Given the description of an element on the screen output the (x, y) to click on. 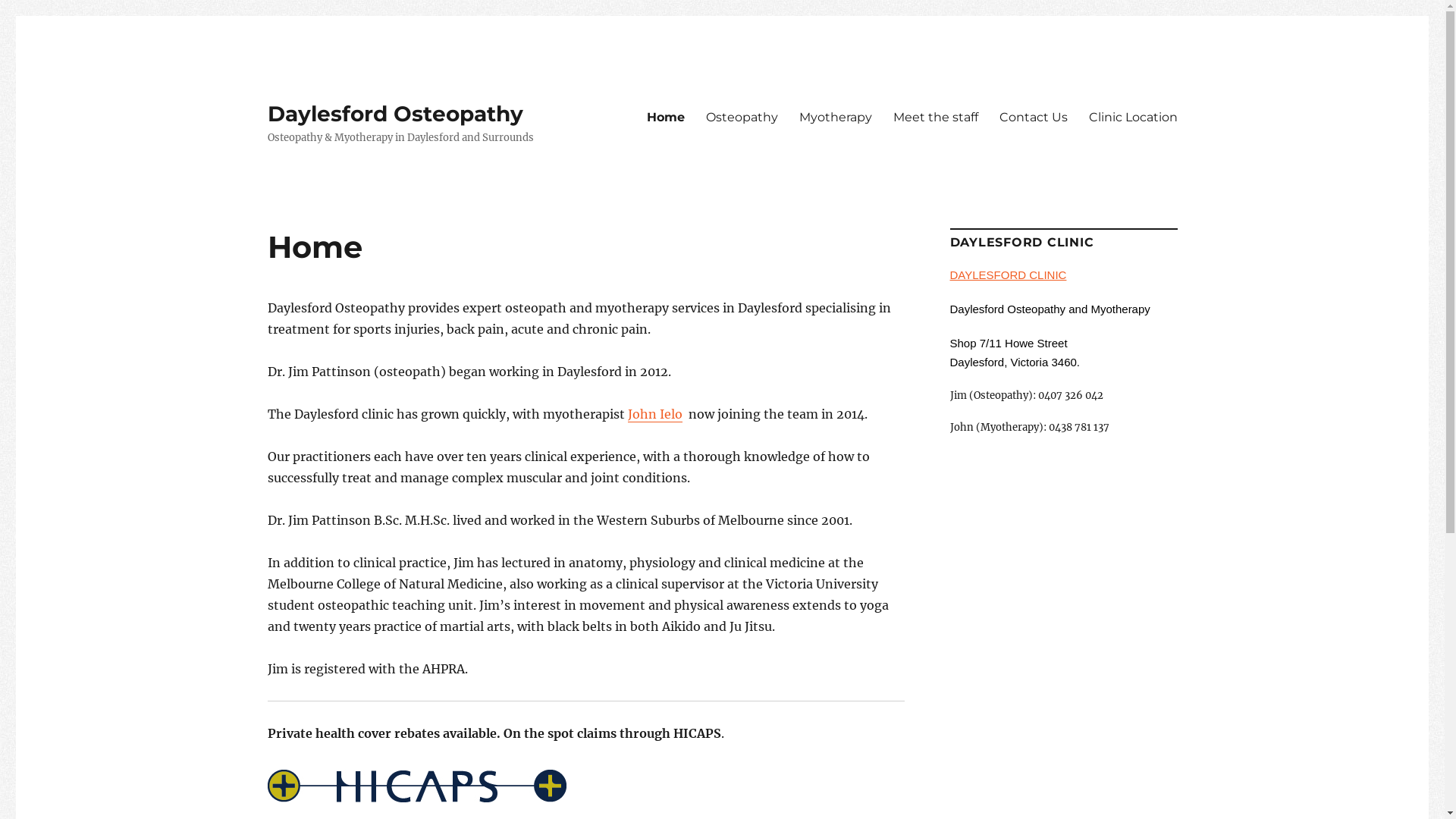
Myotherapy Element type: text (835, 116)
Osteopathy Element type: text (740, 116)
John Ielo Element type: text (654, 413)
Daylesford Osteopathy Element type: text (394, 113)
Clinic Location Element type: text (1133, 116)
Meet the staff Element type: text (935, 116)
Home Element type: text (664, 116)
Contact Us Element type: text (1033, 116)
